Given the description of an element on the screen output the (x, y) to click on. 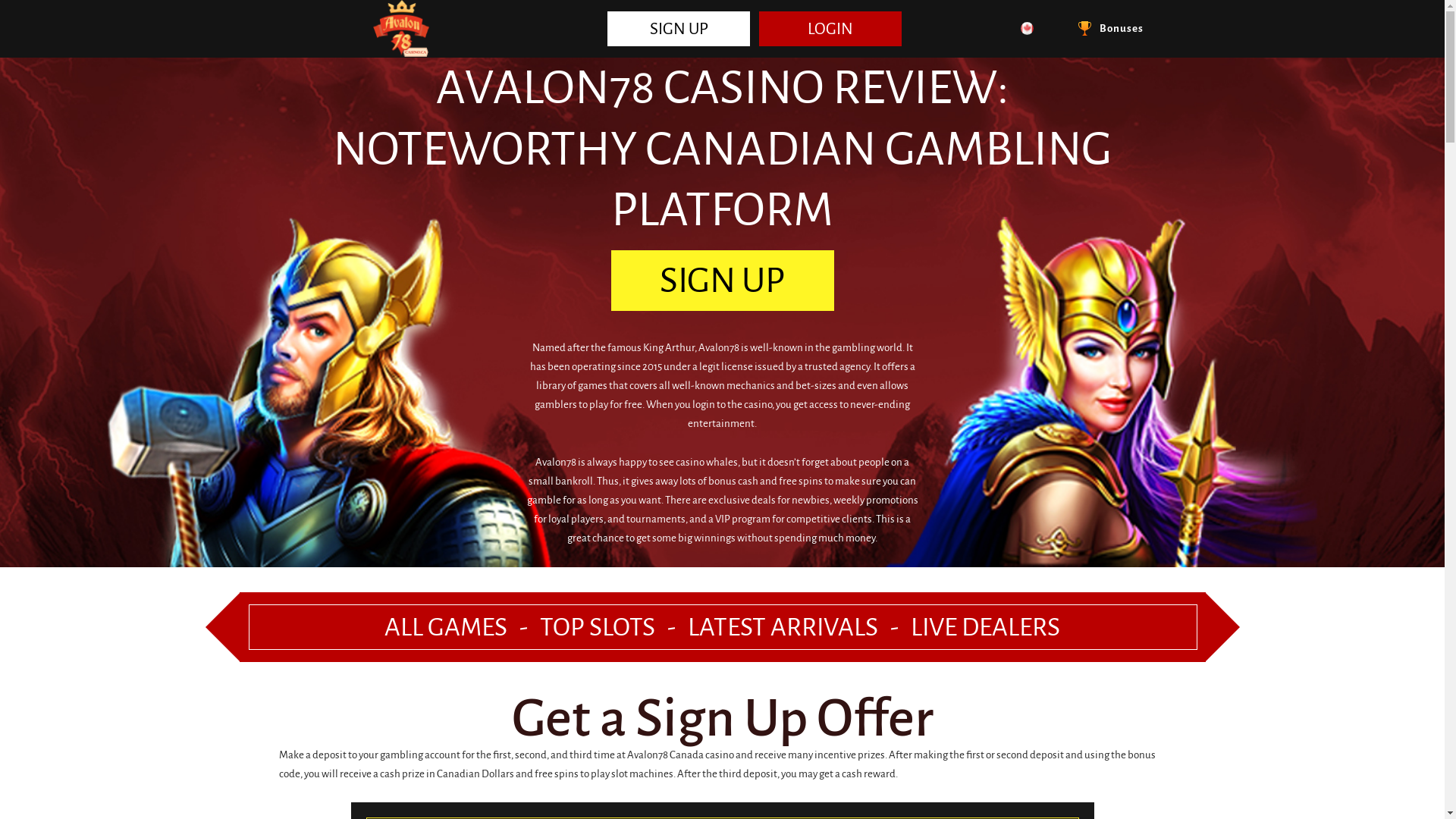
LOGIN Element type: text (830, 27)
TOP SLOTS Element type: text (597, 626)
Avalon78 Casino Logo Element type: hover (401, 28)
LATEST ARRIVALS Element type: text (782, 626)
English Element type: hover (1028, 29)
SIGN UP Element type: text (678, 27)
Bonuses Element type: text (1110, 27)
ALL GAMES Element type: text (445, 626)
SIGN UP Element type: text (722, 280)
LIVE DEALERS Element type: text (985, 626)
